Given the description of an element on the screen output the (x, y) to click on. 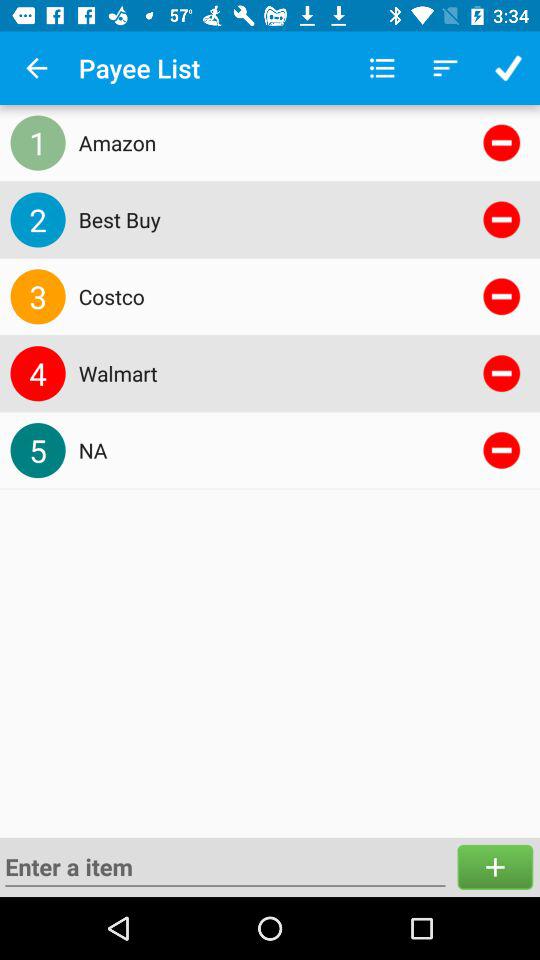
hide delete (501, 219)
